Given the description of an element on the screen output the (x, y) to click on. 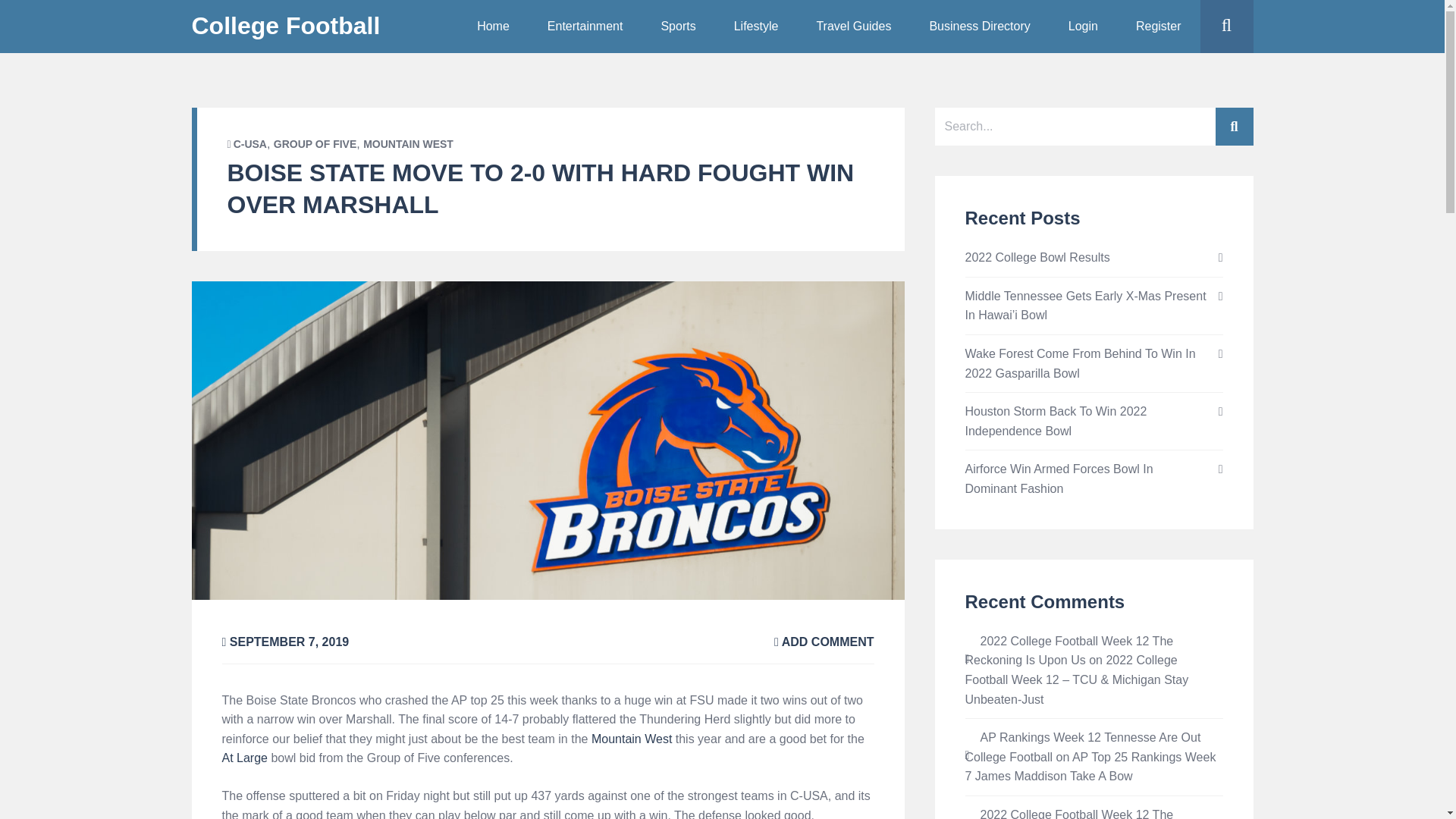
Travel Guides (853, 26)
Mountain West (631, 738)
GROUP OF FIVE (314, 143)
College Football (285, 25)
Go (1256, 79)
Entertainment (585, 26)
ADD COMMENT (823, 641)
Business Directory (978, 26)
C-USA (249, 143)
MOUNTAIN WEST (407, 143)
At Large (243, 757)
